Given the description of an element on the screen output the (x, y) to click on. 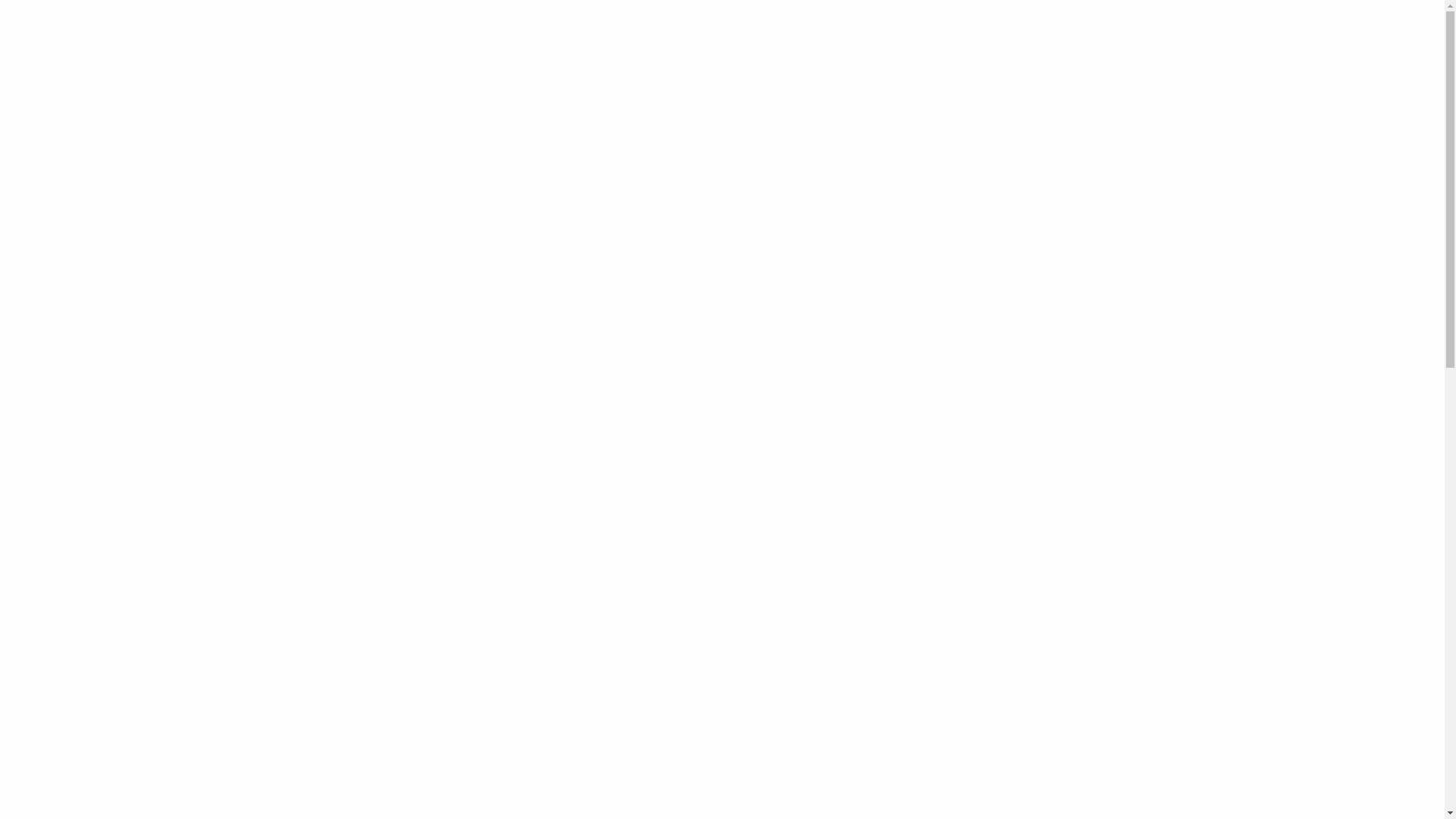
Recent Element type: text (1002, 590)
Enter the terms you wish to search for. Element type: hover (1036, 346)
Technology Element type: text (1054, 527)
Skip to main content Element type: text (0, 0)
PORTFOLIO Element type: text (920, 68)
0 Comments Element type: text (441, 411)
Videos Element type: text (1054, 499)
ABOUT US Element type: text (1036, 68)
HOME Element type: text (833, 249)
Search Element type: text (1143, 35)
Photos Element type: text (1054, 471)
Smart home electronics? Great! But not without any risk. Element type: text (1084, 641)
HOME Element type: text (795, 68)
FAQ Element type: text (979, 68)
SERVICES Element type: text (851, 68)
Over ons Element type: text (731, 30)
Engels Element type: text (885, 30)
Popular Element type: text (1005, 572)
Enter the terms you wish to search for. Element type: hover (1089, 30)
Smart home electronics? Great! But not without any risk. Element type: text (606, 384)
Search Element type: text (1147, 346)
Contacteer ons Element type: text (811, 30)
CONTACT US Element type: text (1115, 68)
Smart home electronics? Super, maar niet zonder risico. Element type: text (1079, 778)
Design Element type: text (1054, 443)
